Given the description of an element on the screen output the (x, y) to click on. 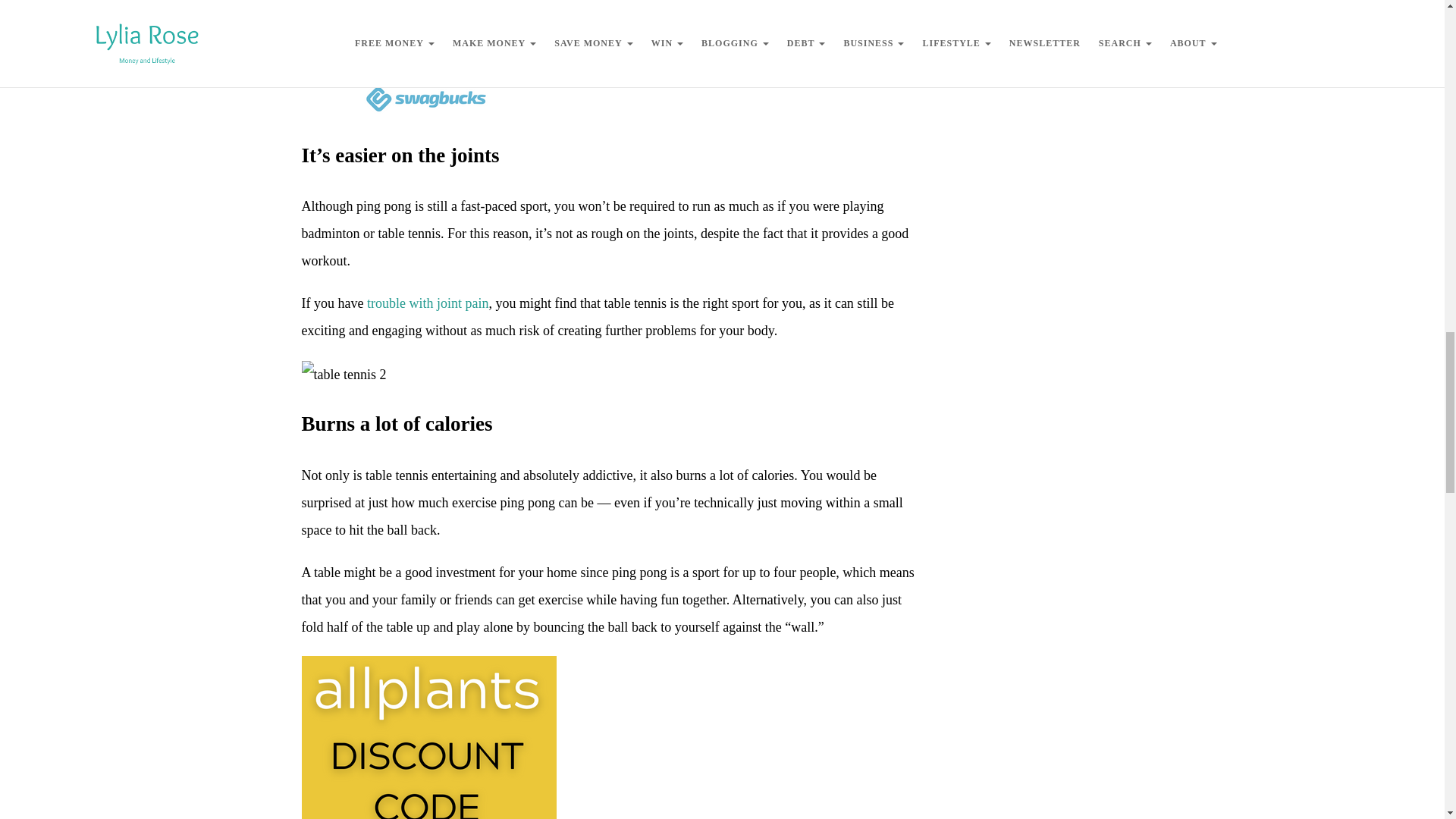
table tennis 2 (344, 374)
